Given the description of an element on the screen output the (x, y) to click on. 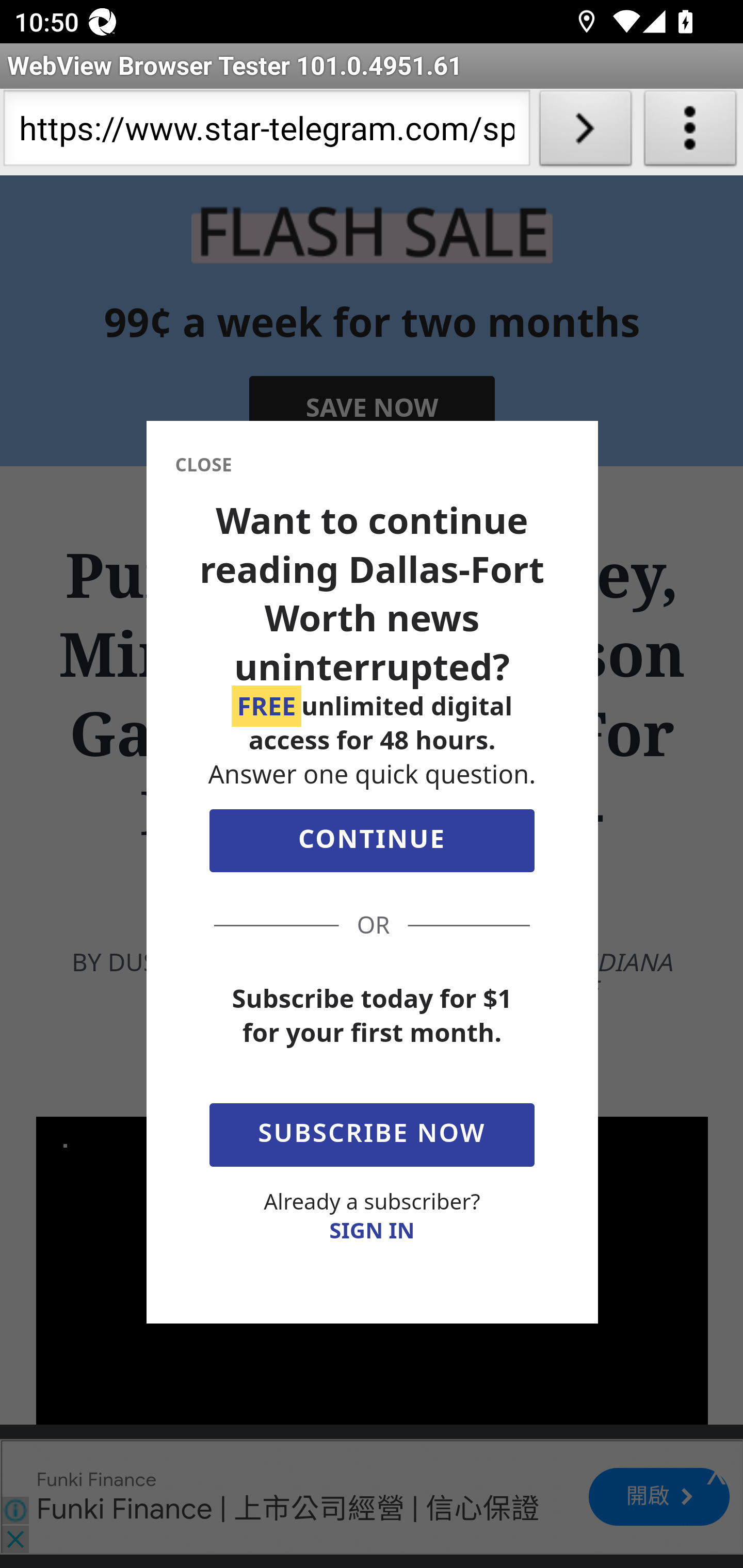
Load URL (585, 132)
About WebView (690, 132)
CLOSE (203, 466)
CONTINUE (371, 846)
SUBSCRIBE NOW (371, 1131)
SIGN IN (371, 1231)
